Given the description of an element on the screen output the (x, y) to click on. 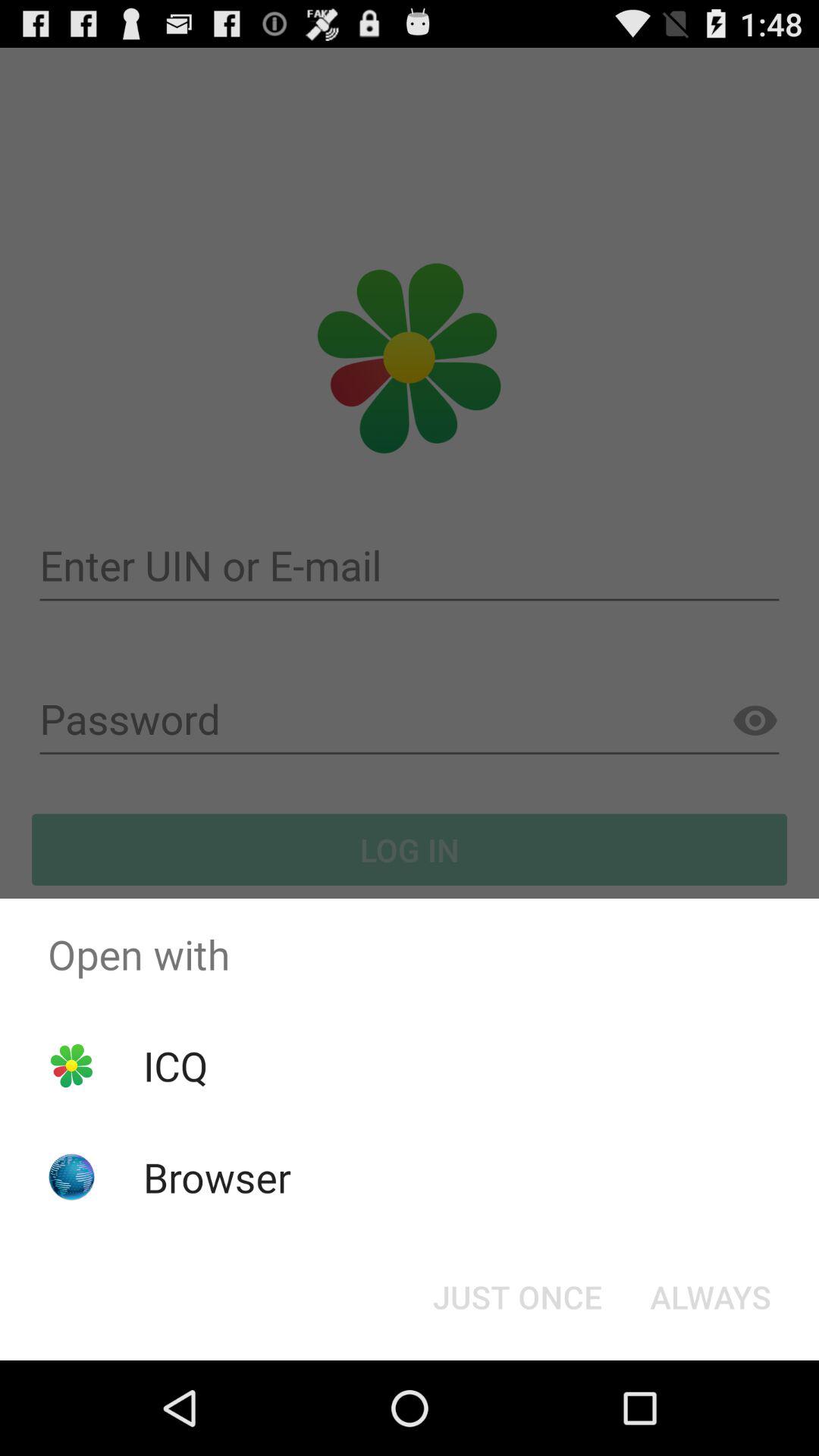
flip to always button (710, 1296)
